Given the description of an element on the screen output the (x, y) to click on. 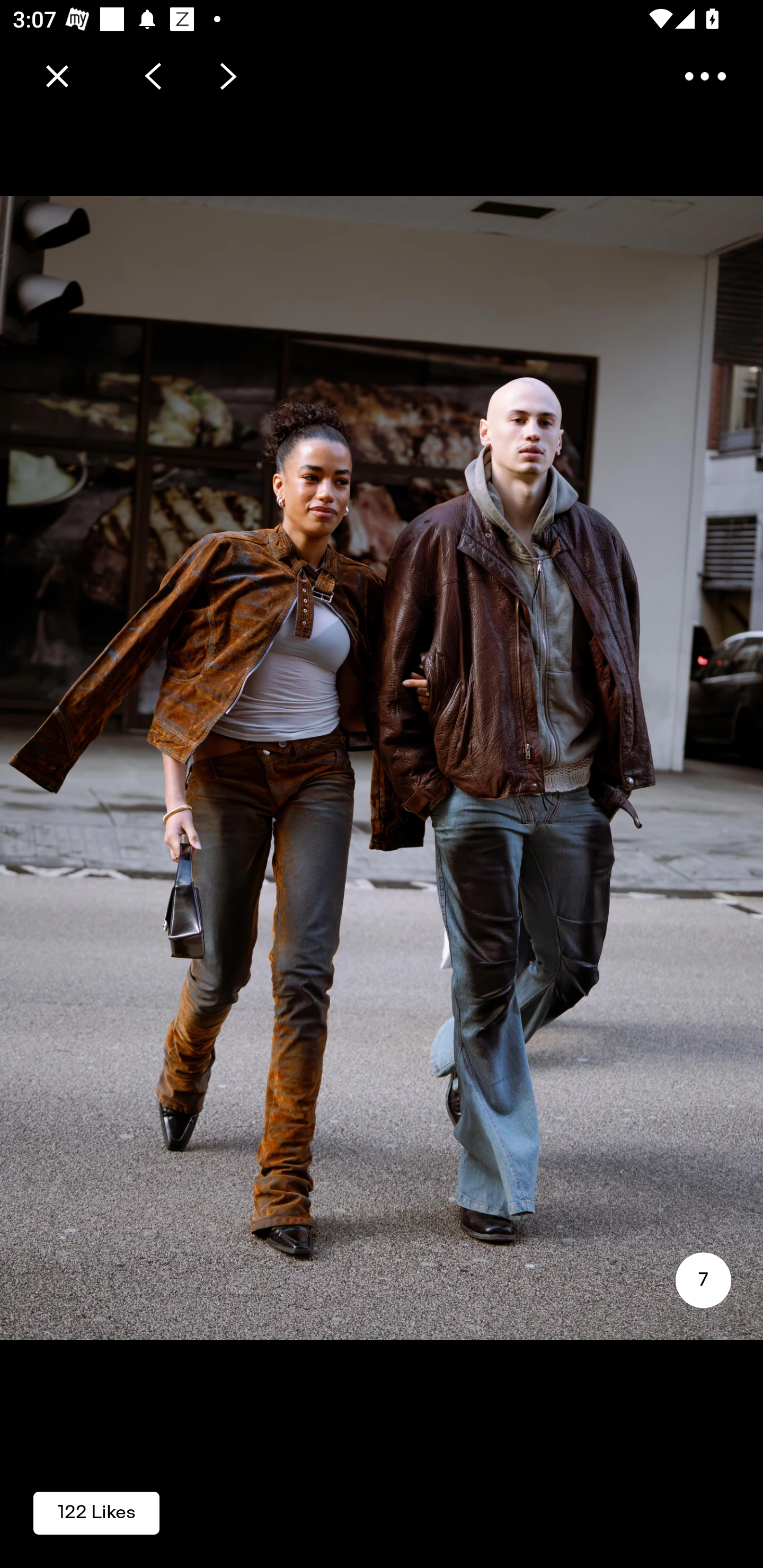
7 (702, 1279)
122 Likes (96, 1512)
